Given the description of an element on the screen output the (x, y) to click on. 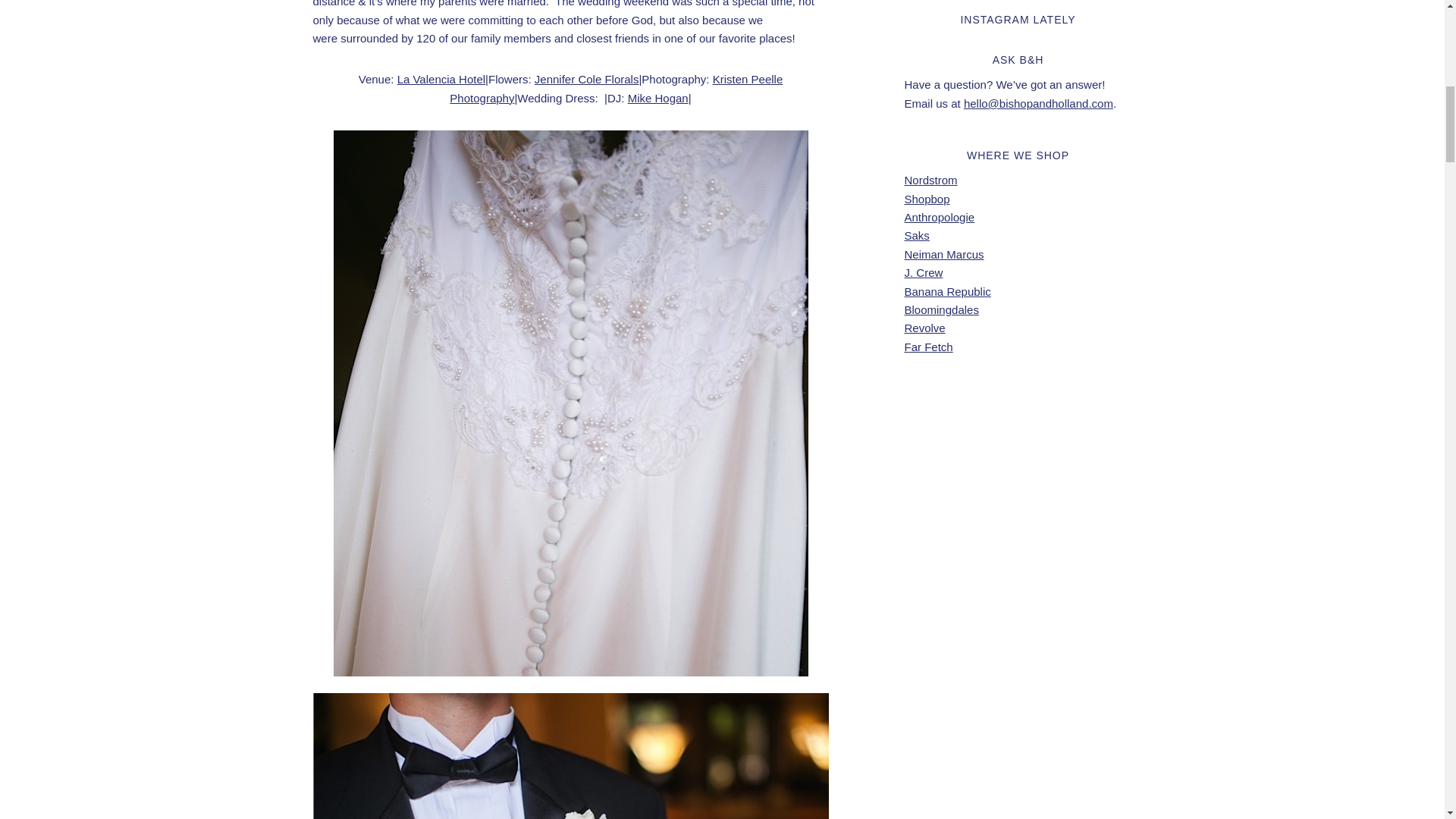
Jennifer Cole Florals (586, 78)
La Valencia Hotel (440, 78)
Mike Hogan (657, 97)
Kristen Peelle Photography (616, 88)
